Given the description of an element on the screen output the (x, y) to click on. 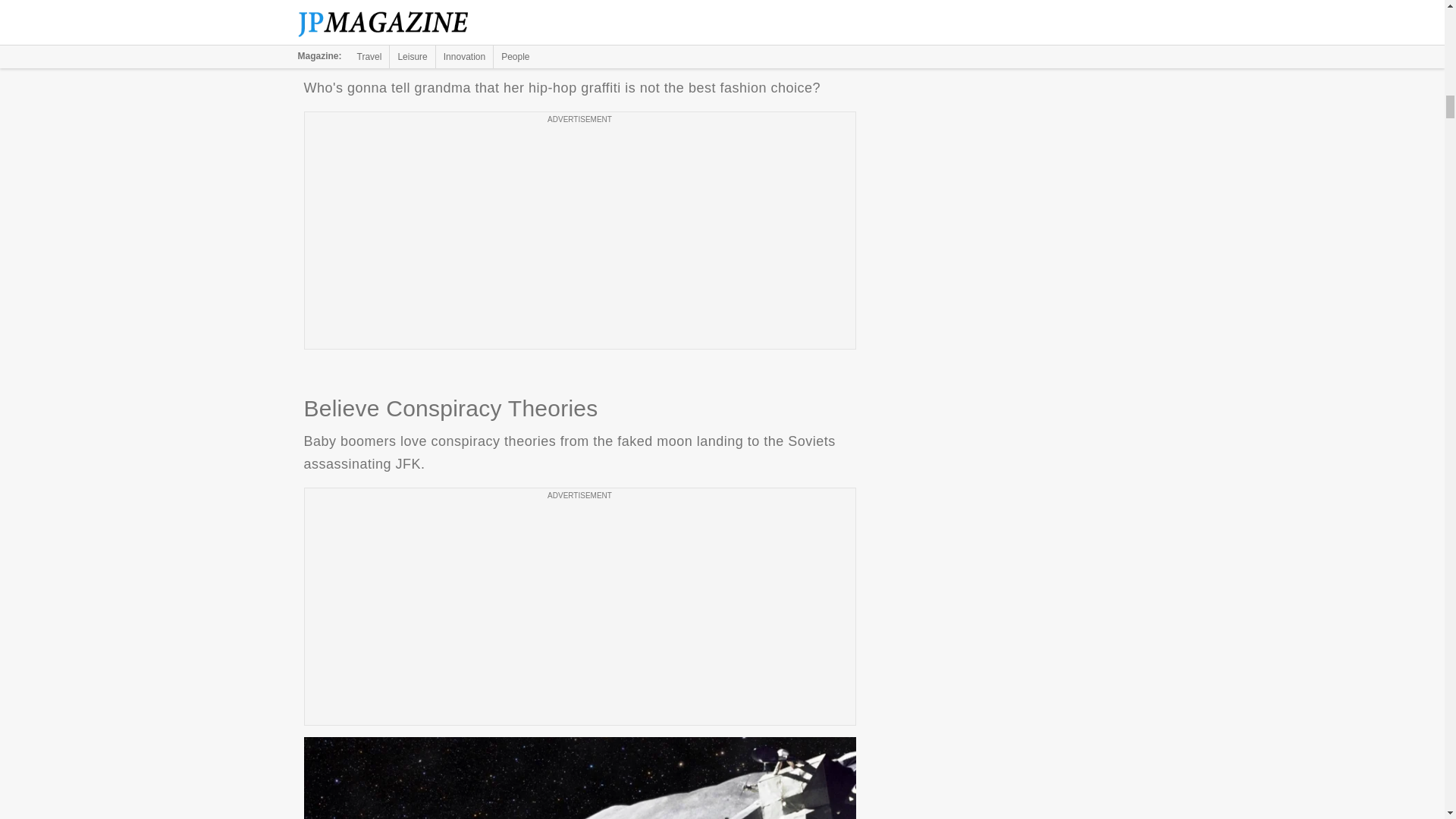
Believe Conspiracy Theories (579, 778)
Airbrushed T-shirts (579, 24)
